Given the description of an element on the screen output the (x, y) to click on. 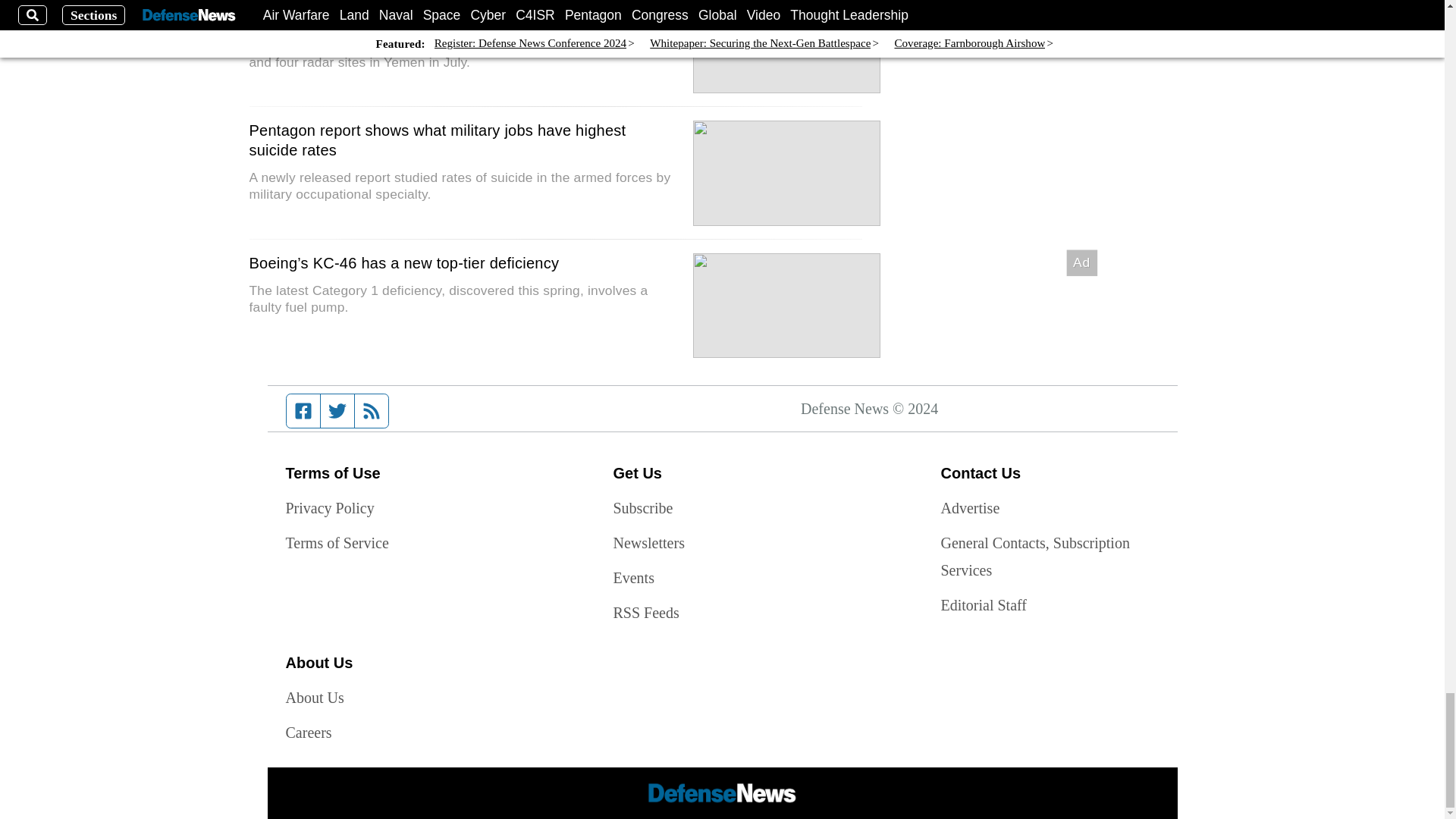
Twitter feed (336, 410)
Facebook page (303, 410)
RSS feed (371, 410)
